Given the description of an element on the screen output the (x, y) to click on. 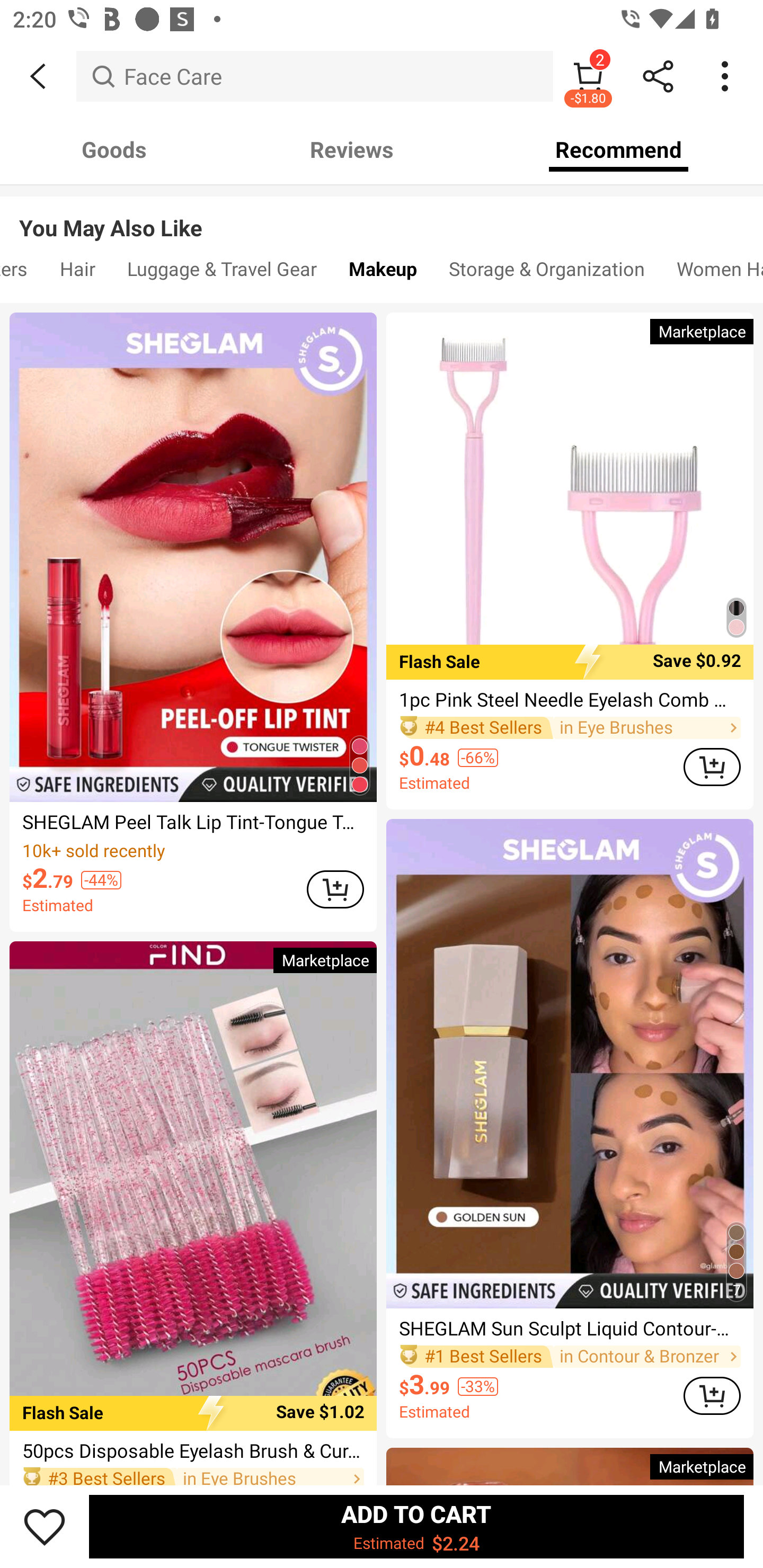
BACK (38, 75)
2 -$1.80 (588, 75)
Face Care (314, 75)
Goods (114, 149)
Reviews (351, 149)
Recommend (618, 149)
You May Also Like (381, 214)
Hair (77, 273)
Luggage & Travel Gear (221, 273)
Makeup (382, 273)
Storage & Organization (546, 273)
#4 Best Sellers in Eye Brushes (569, 727)
ADD TO CART (711, 766)
ADD TO CART (334, 888)
#1 Best Sellers in Contour & Bronzer (569, 1355)
ADD TO CART (711, 1395)
ADD TO CART Estimated   $2.24 (416, 1526)
Save (44, 1526)
